Given the description of an element on the screen output the (x, y) to click on. 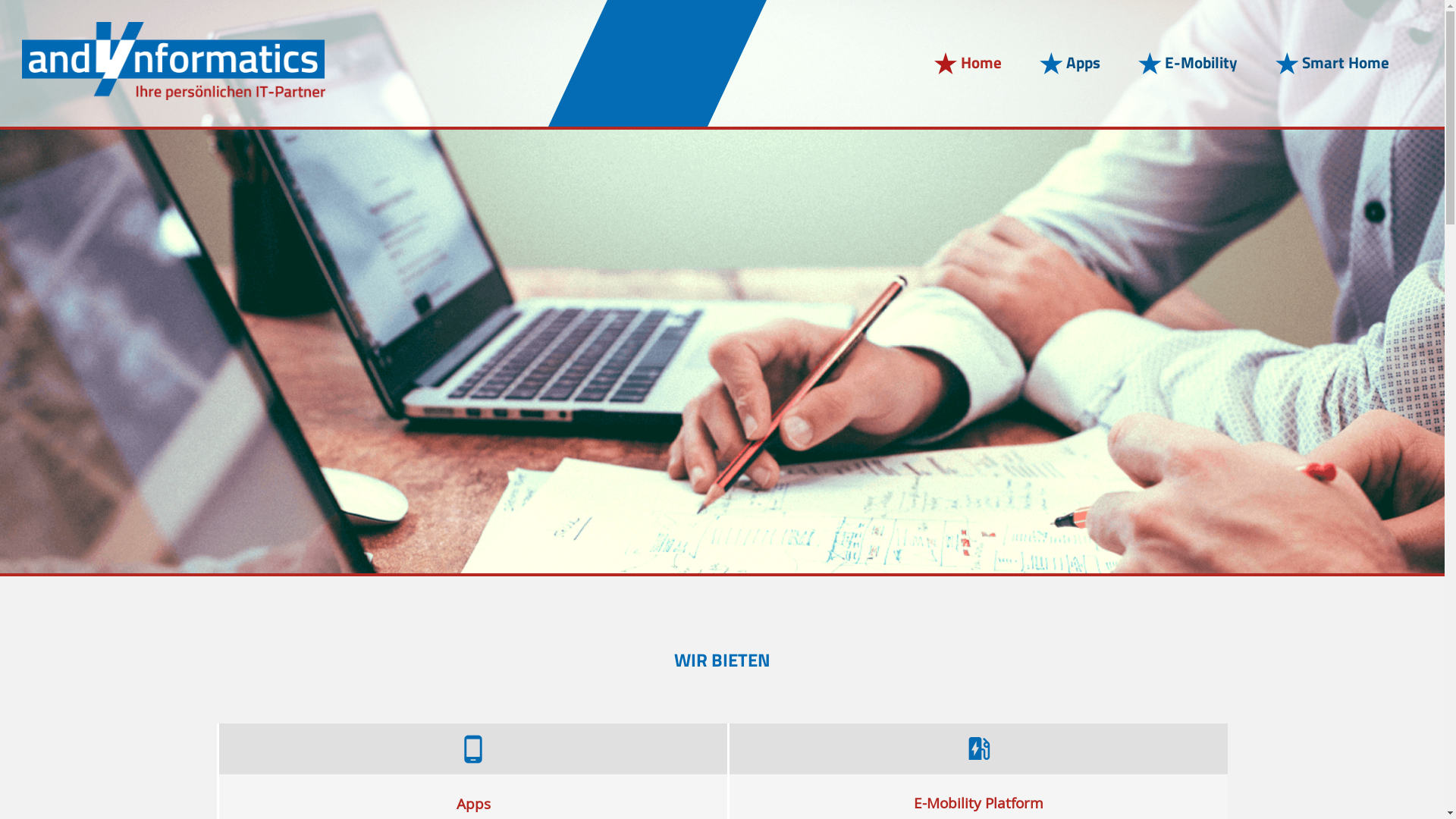
E-Mobility Element type: text (1185, 62)
Apps Element type: text (1068, 62)
Smart Home Element type: text (1330, 62)
Home Element type: text (965, 62)
